Given the description of an element on the screen output the (x, y) to click on. 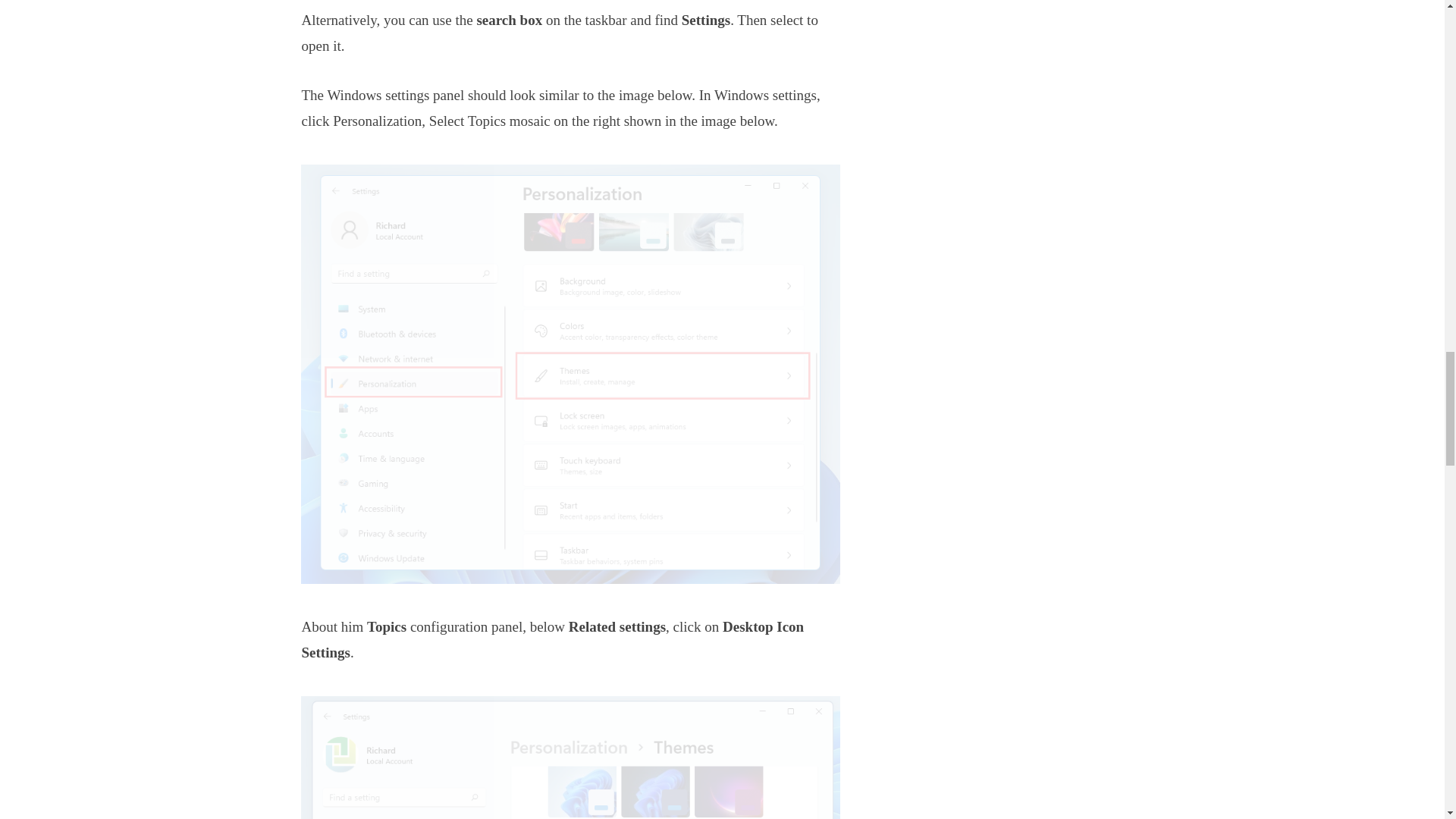
How to restore the recycle bin icon in Windows 11 4 (570, 757)
